Given the description of an element on the screen output the (x, y) to click on. 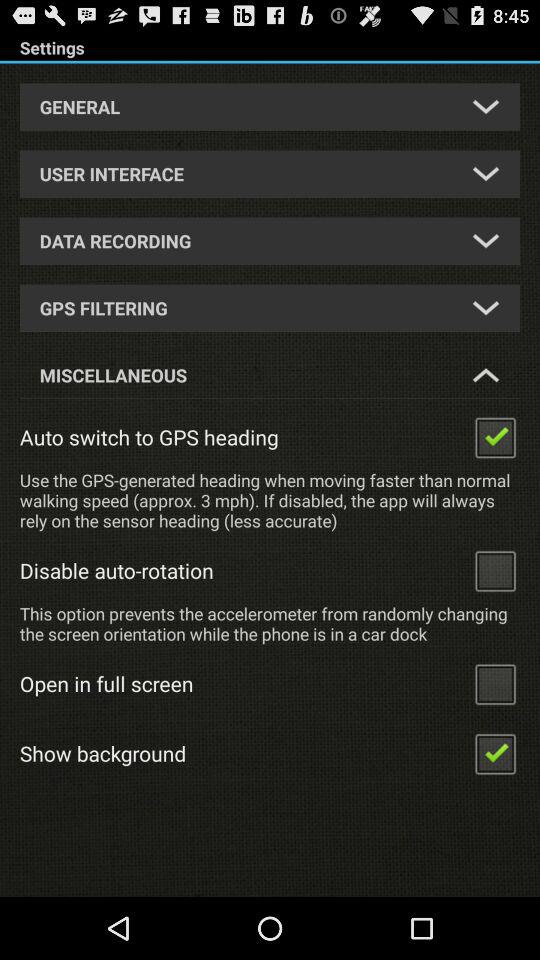
tick the open in full screen (495, 683)
